Given the description of an element on the screen output the (x, y) to click on. 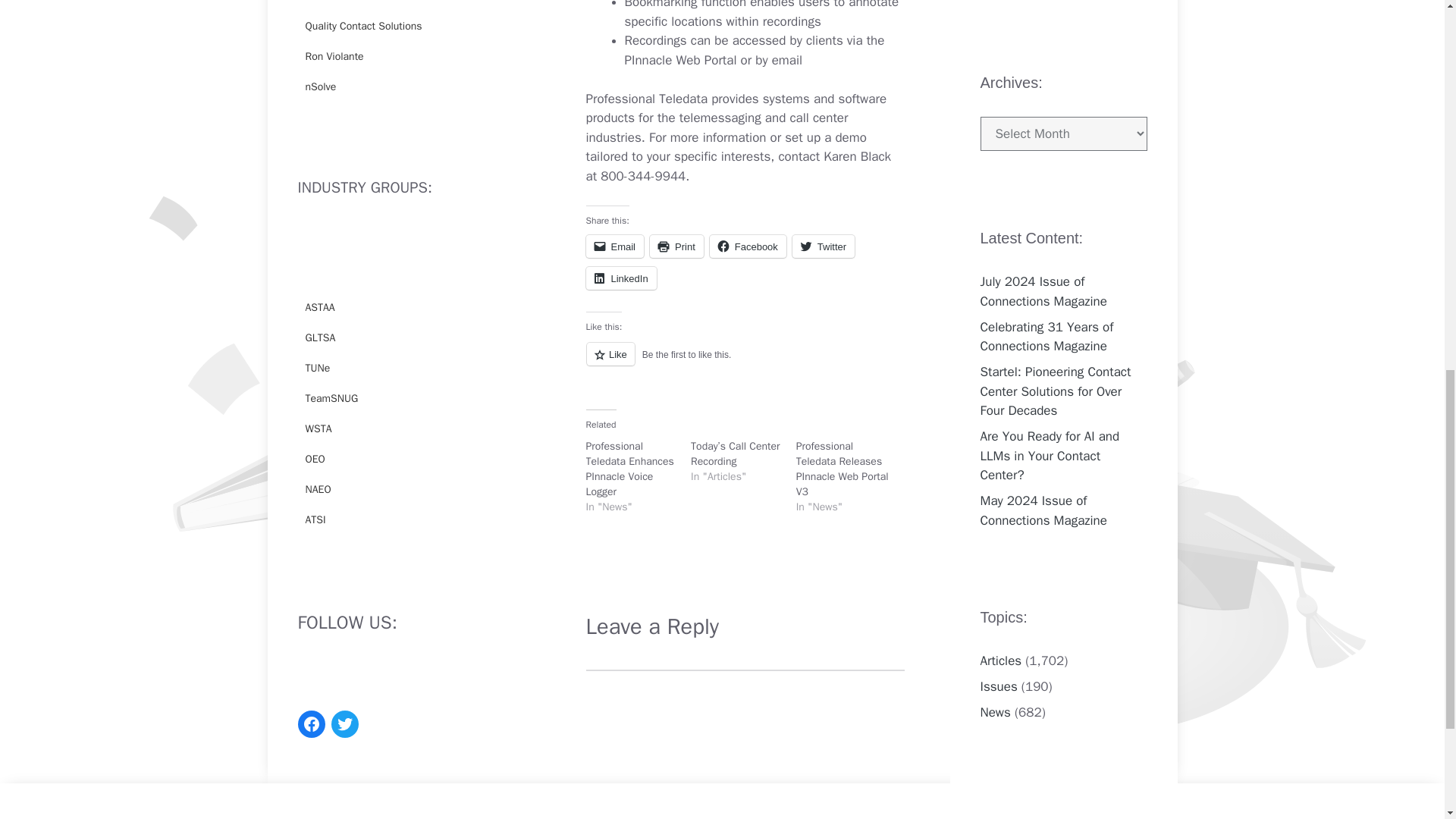
Scroll back to top (1406, 720)
Click to share on Twitter (823, 246)
Professional Teledata Releases PInnacle Web Portal V3 (842, 468)
Click to print (676, 246)
Click to share on LinkedIn (620, 277)
Click to share on Facebook (748, 246)
Like or Reblog (744, 363)
Professional Teledata Enhances PInnacle Voice Logger (628, 468)
Click to email a link to a friend (614, 246)
